Given the description of an element on the screen output the (x, y) to click on. 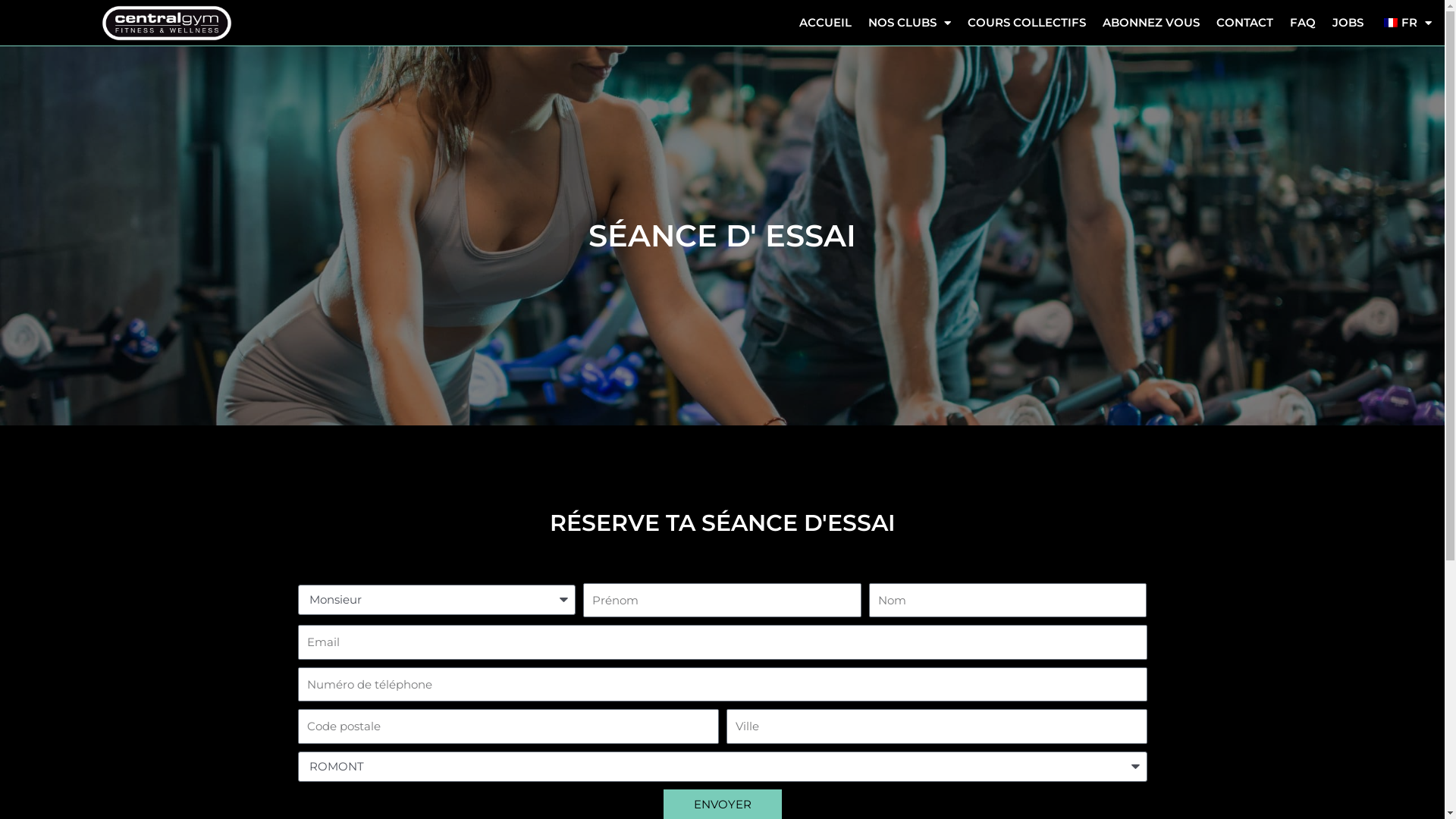
FAQ Element type: text (1302, 22)
JOBS Element type: text (1347, 22)
FR Element type: text (1405, 22)
CONTACT Element type: text (1244, 22)
NOS CLUBS Element type: text (909, 22)
ABONNEZ VOUS Element type: text (1151, 22)
ACCUEIL Element type: text (824, 22)
COURS COLLECTIFS Element type: text (1026, 22)
